Given the description of an element on the screen output the (x, y) to click on. 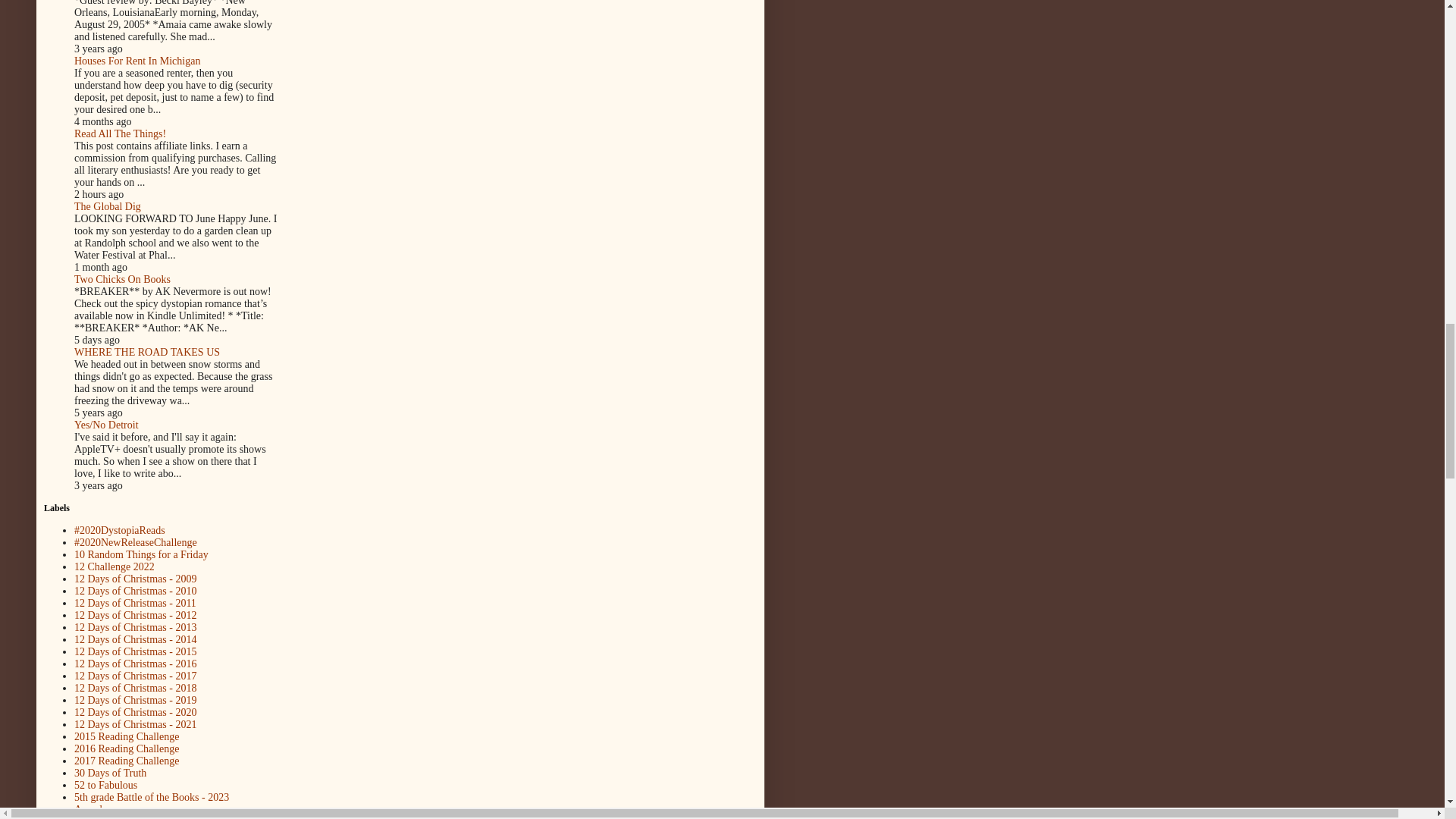
Read All The Things! (119, 133)
The Global Dig (107, 206)
Houses For Rent In Michigan (137, 60)
Two Chicks On Books (122, 279)
WHERE THE ROAD TAKES US (146, 351)
